Given the description of an element on the screen output the (x, y) to click on. 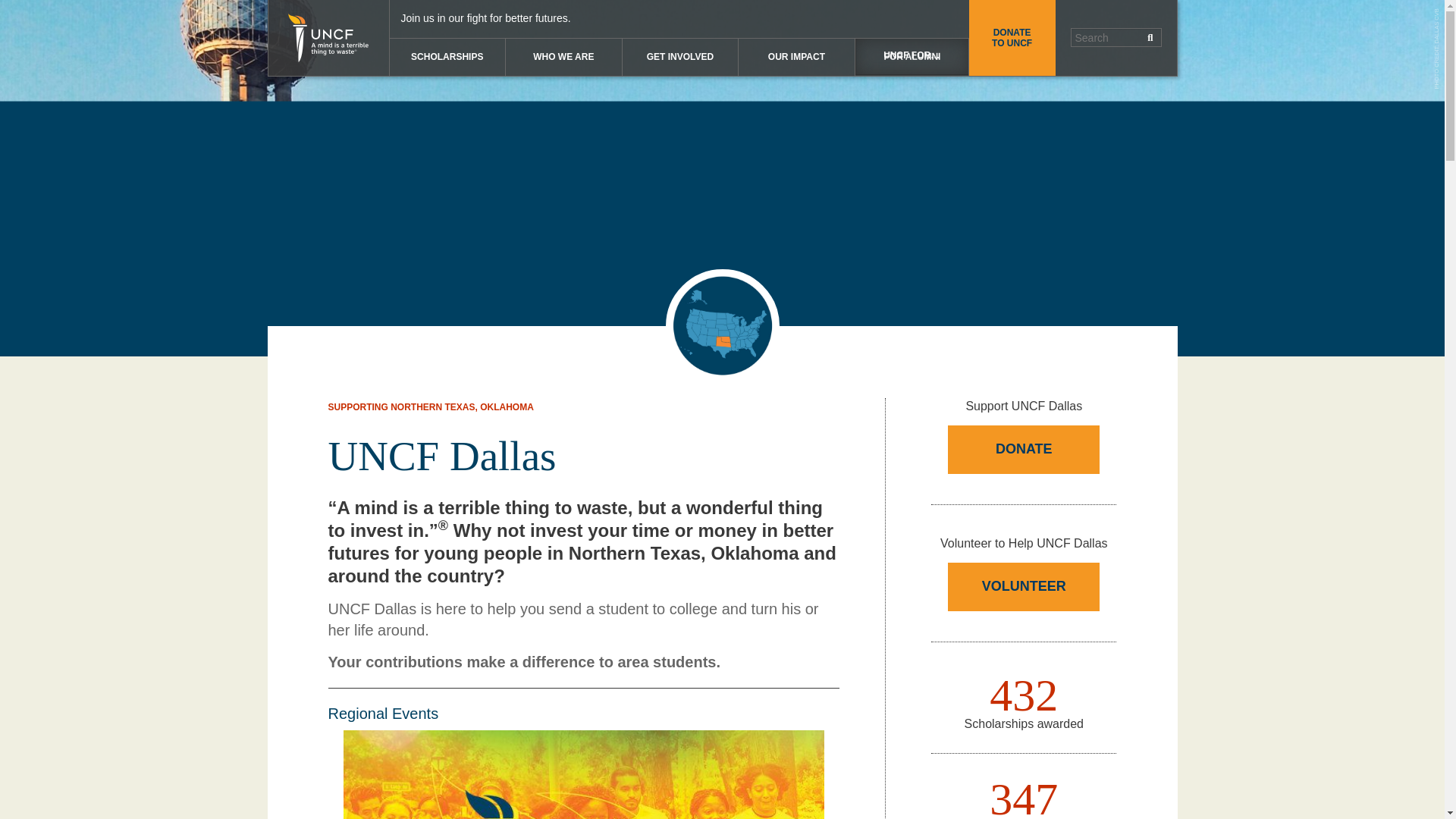
SCHOLARSHIPS (447, 57)
Skip to main content (8, 7)
WHO WE ARE (563, 57)
GET INVOLVED (680, 57)
